Given the description of an element on the screen output the (x, y) to click on. 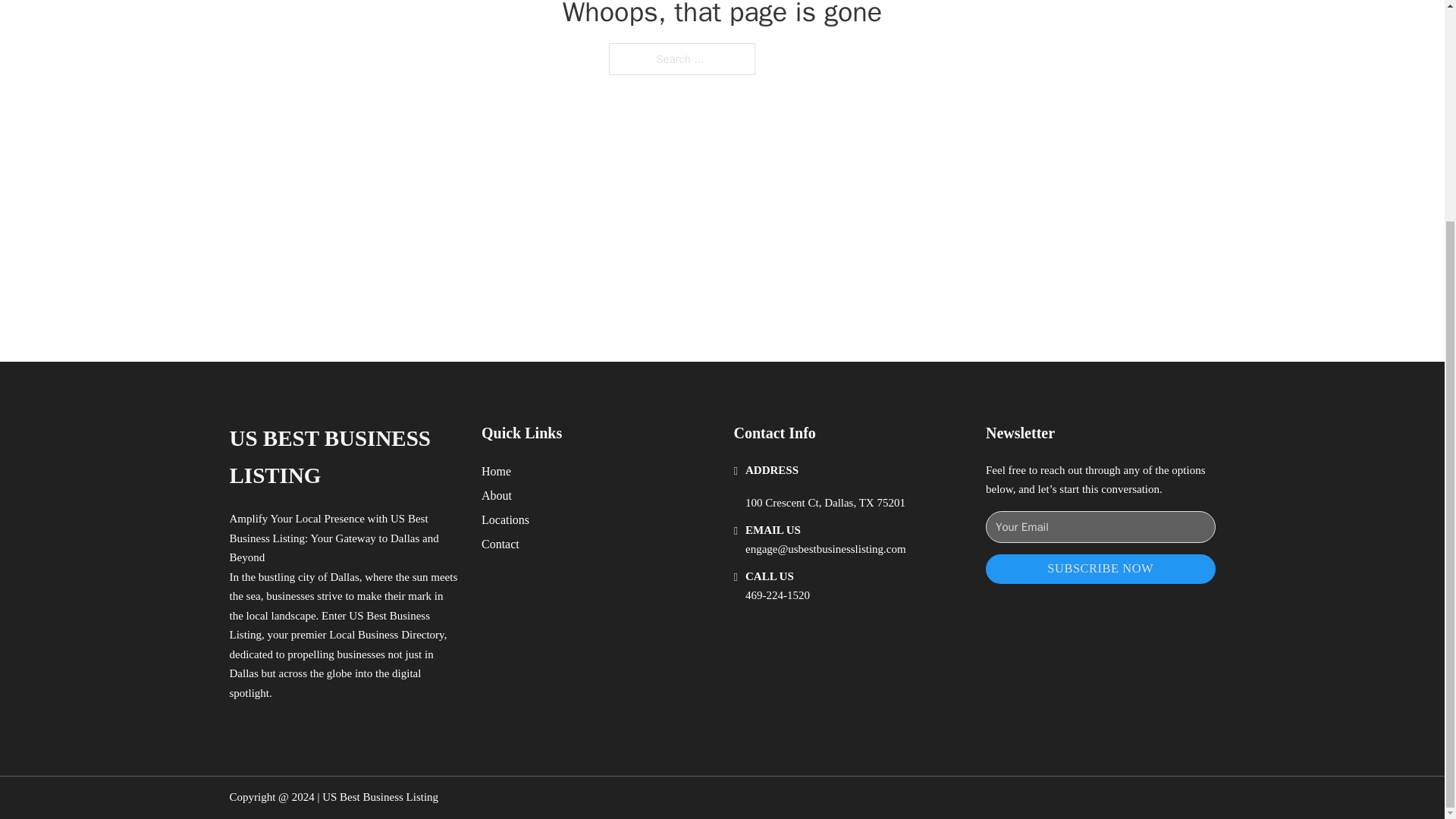
SUBSCRIBE NOW (1100, 568)
Locations (505, 519)
Contact (500, 543)
US BEST BUSINESS LISTING (343, 457)
About (496, 495)
Home (496, 471)
469-224-1520 (777, 594)
